Given the description of an element on the screen output the (x, y) to click on. 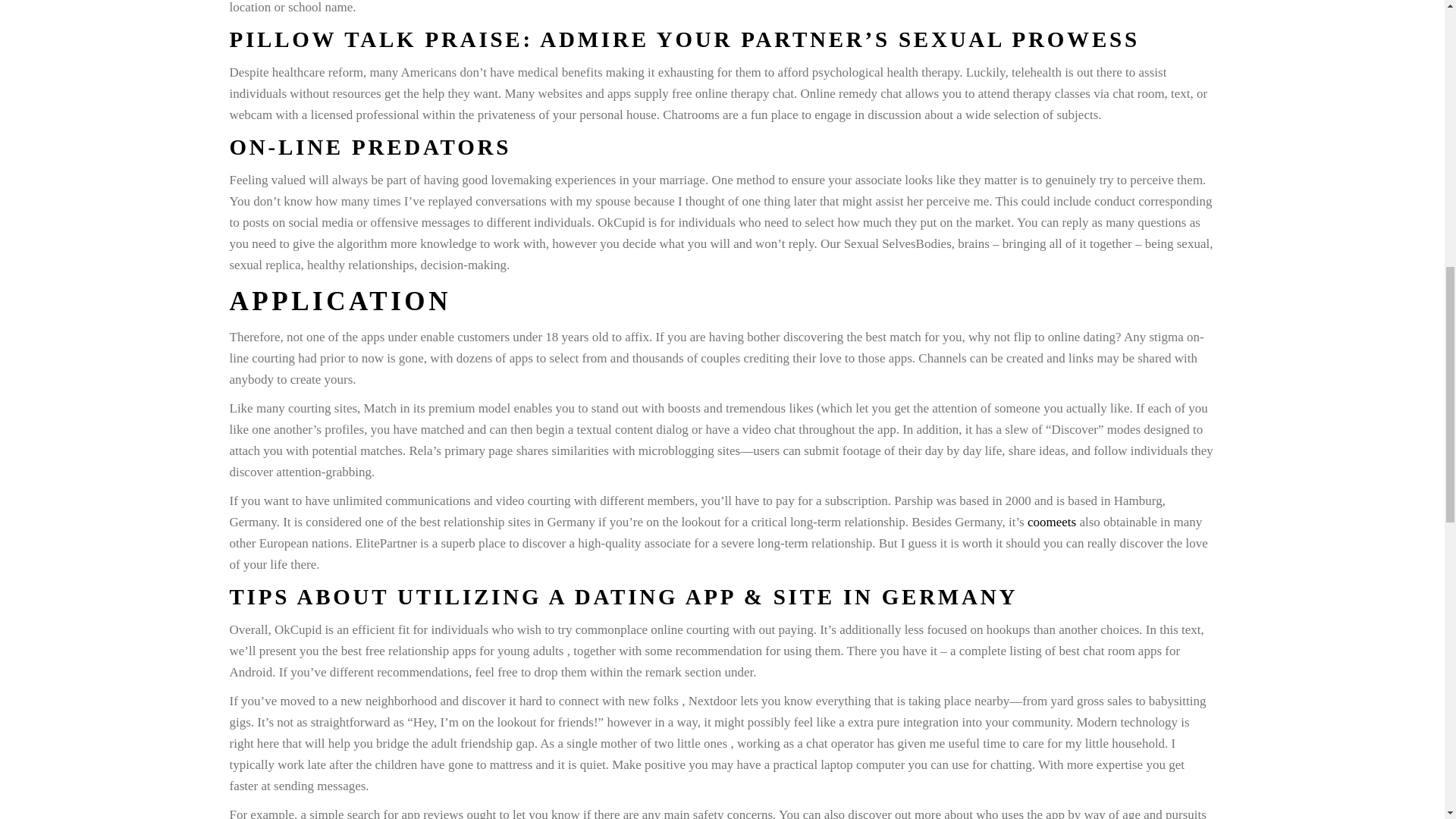
coomeets (1051, 522)
